Given the description of an element on the screen output the (x, y) to click on. 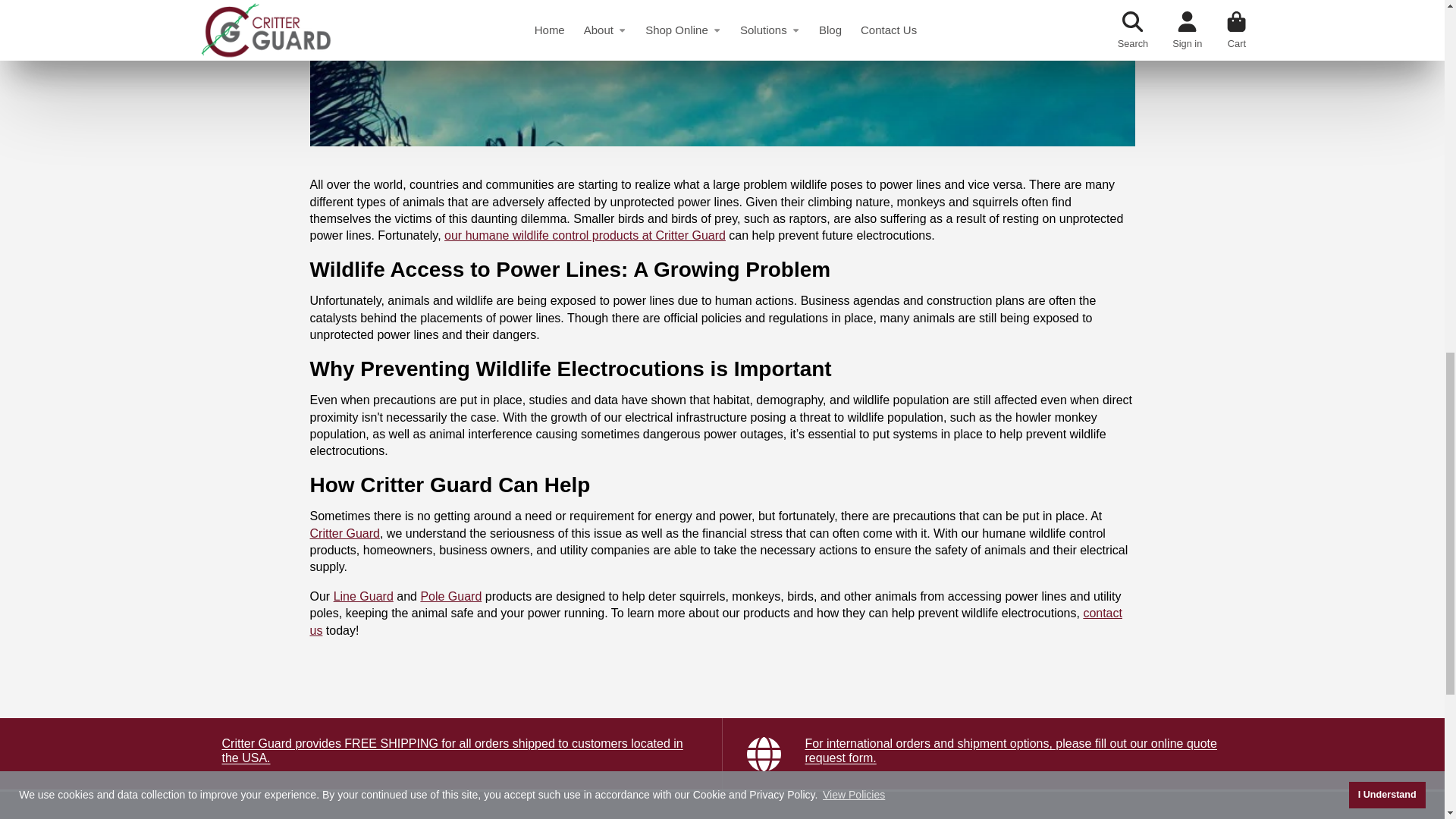
our humane wildlife control products at Critter Guard (584, 235)
